Given the description of an element on the screen output the (x, y) to click on. 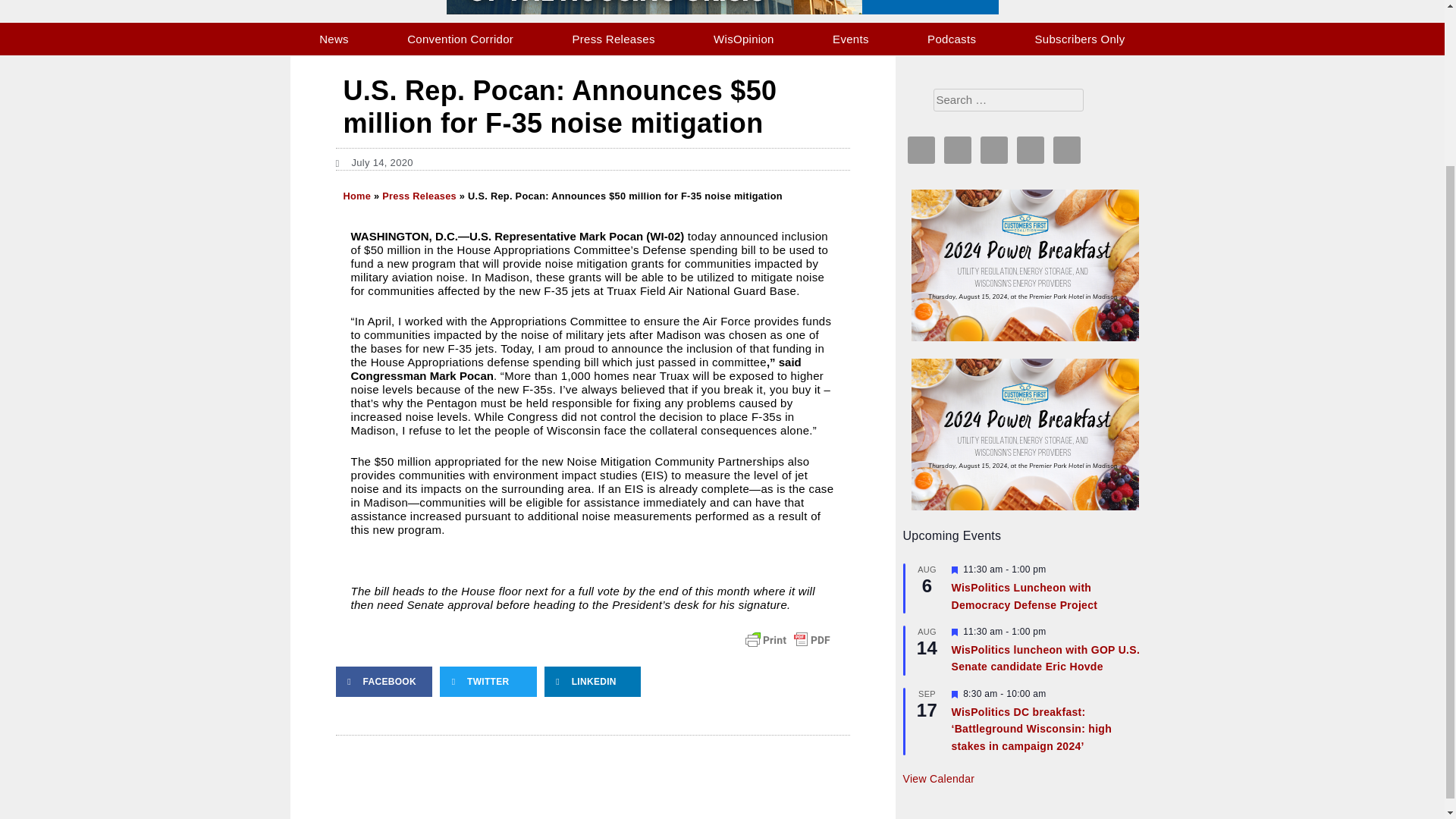
Press Releases (613, 39)
WisOpinion (743, 39)
View more events. (938, 779)
Events (850, 39)
Subscribers Only (1080, 39)
News (333, 39)
WisPolitics Luncheon with Democracy Defense Project (1023, 596)
Convention Corridor (460, 39)
Podcasts (951, 39)
